Given the description of an element on the screen output the (x, y) to click on. 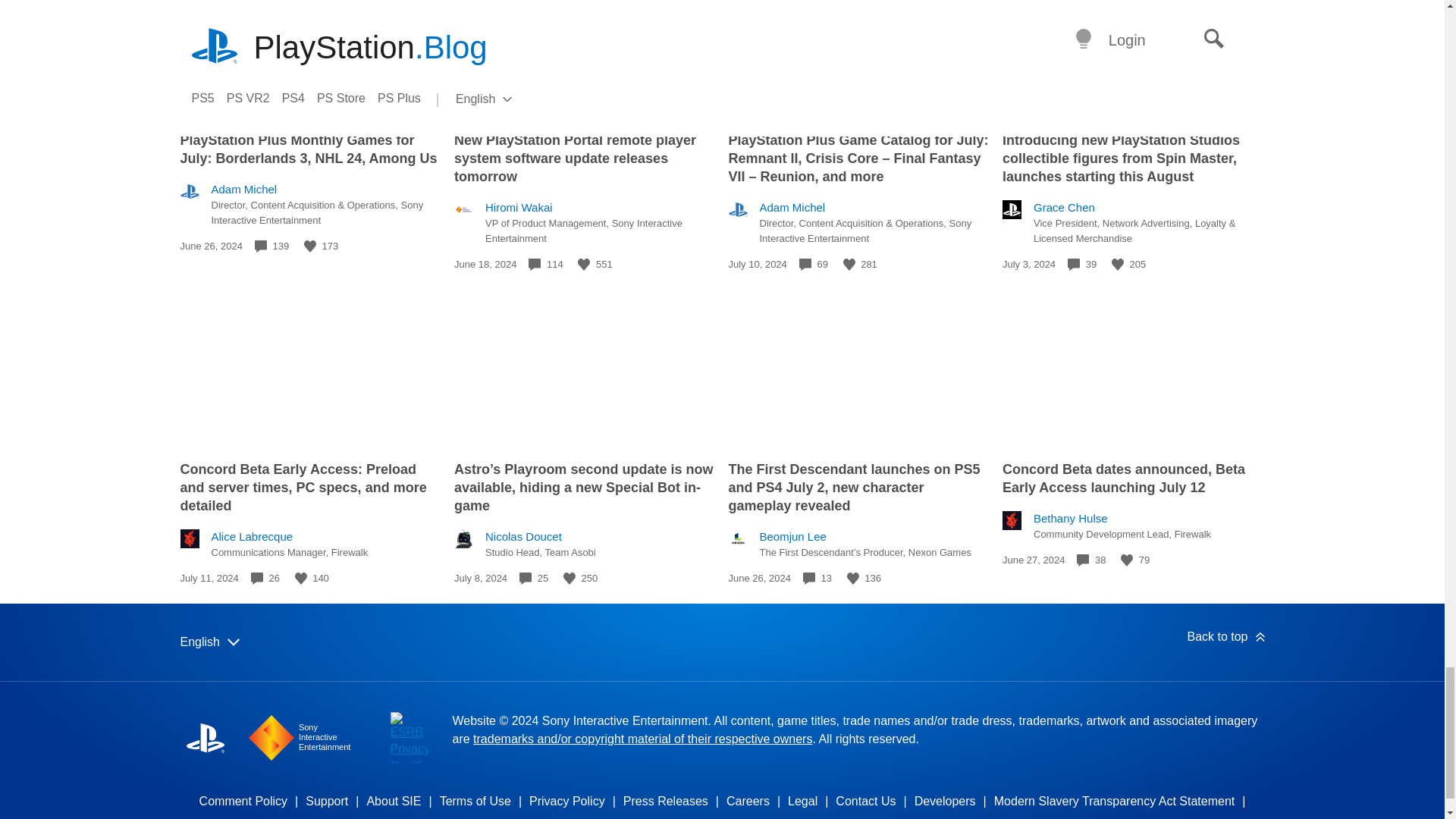
Like this (1118, 264)
Like this (583, 264)
Like this (309, 246)
Like this (301, 578)
Like this (849, 264)
